Given the description of an element on the screen output the (x, y) to click on. 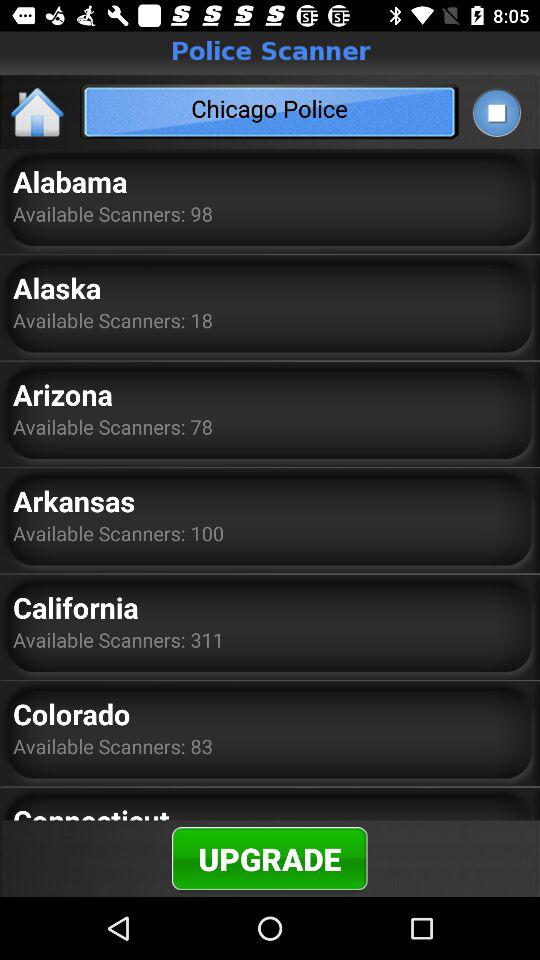
jump to arizona app (62, 394)
